Given the description of an element on the screen output the (x, y) to click on. 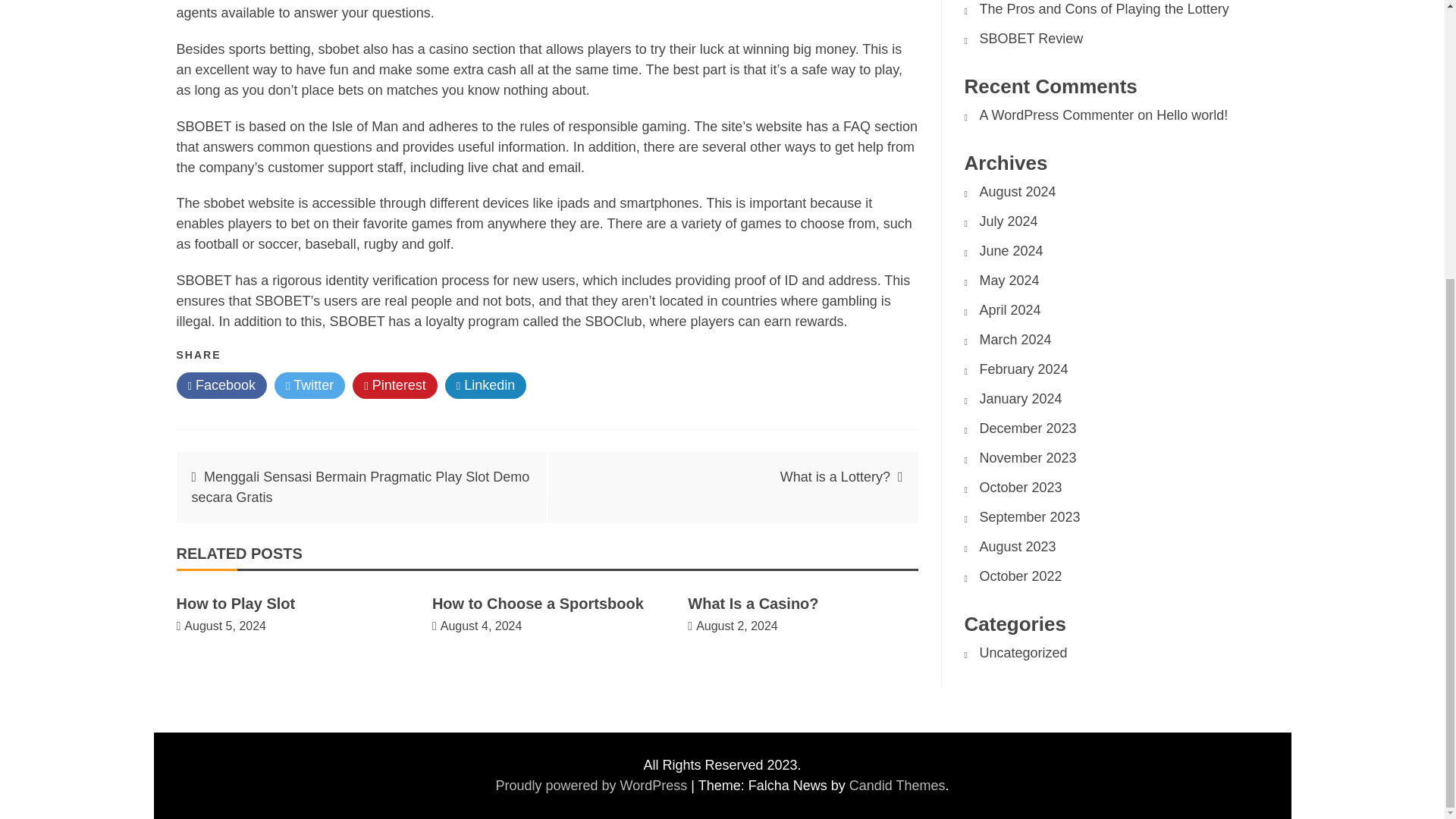
Hello world! (1191, 114)
Linkedin (486, 385)
What Is a Casino? (752, 603)
How to Play Slot (235, 603)
What is a Lottery? (834, 476)
Twitter (310, 385)
May 2024 (1009, 280)
August 4, 2024 (481, 625)
Facebook (221, 385)
January 2024 (1020, 398)
July 2024 (1008, 221)
How to Choose a Sportsbook (537, 603)
April 2024 (1010, 309)
SBOBET Review (1031, 38)
